Given the description of an element on the screen output the (x, y) to click on. 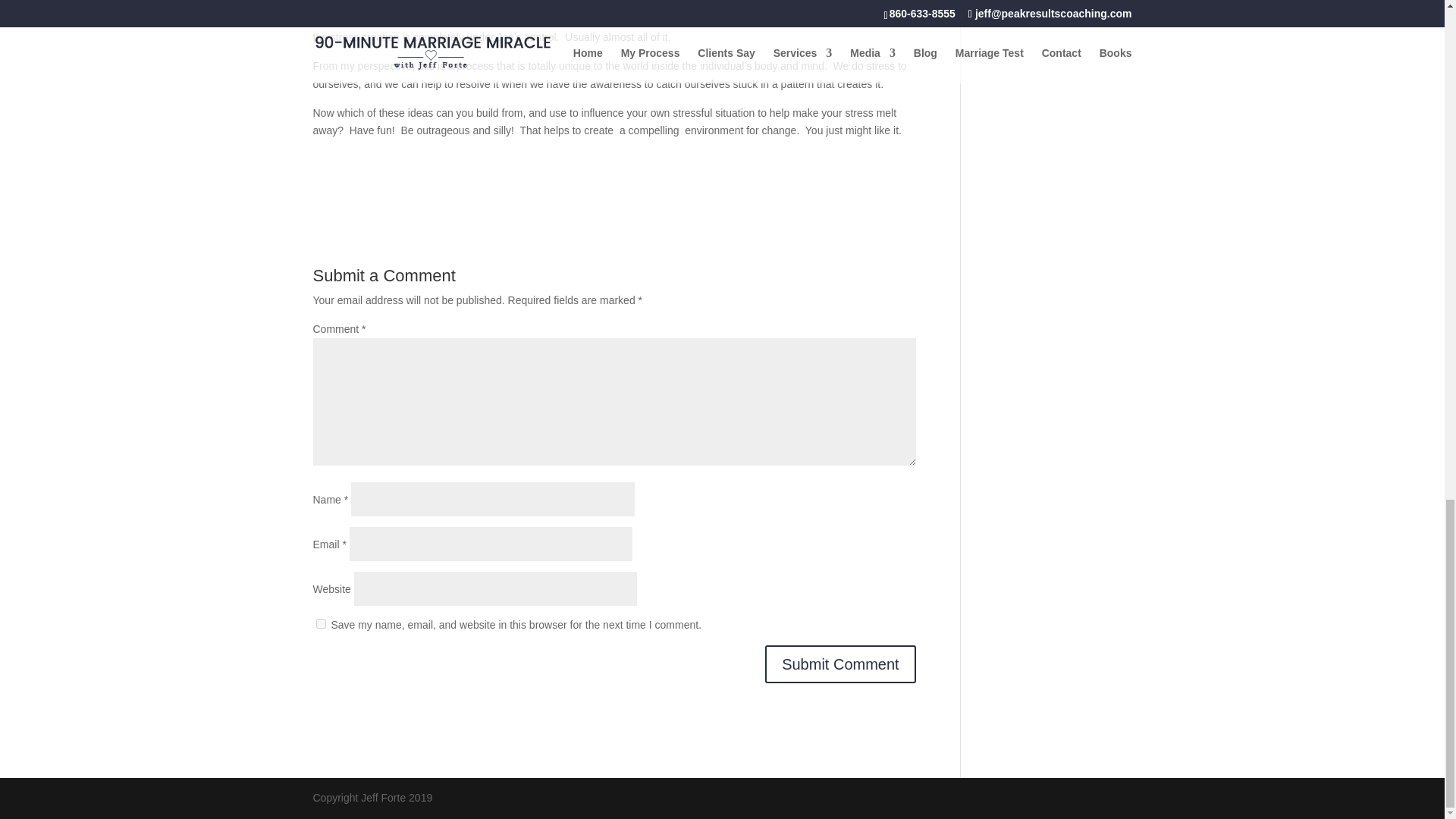
Submit Comment (840, 664)
Submit Comment (840, 664)
yes (319, 623)
